Given the description of an element on the screen output the (x, y) to click on. 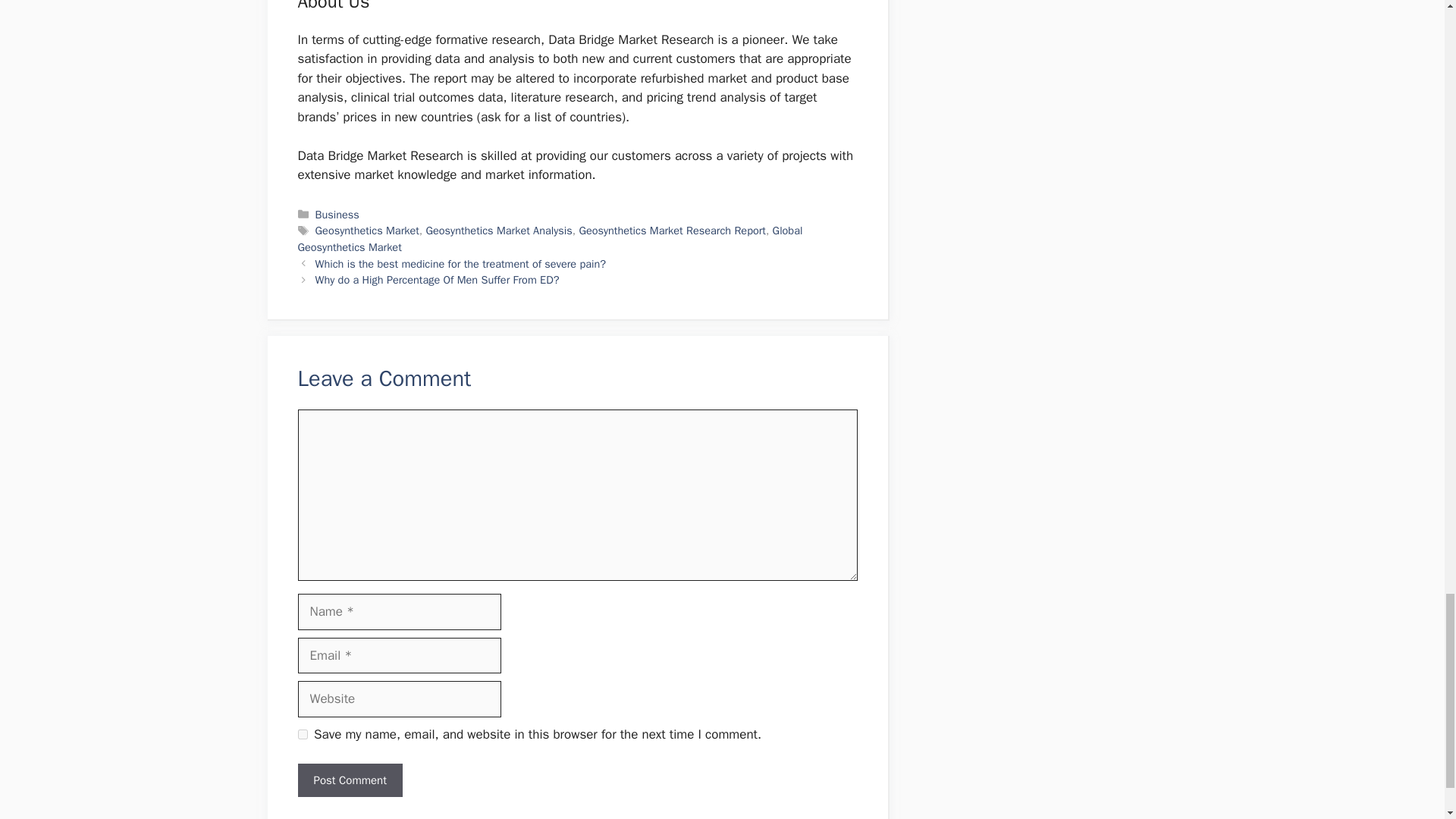
Post Comment (349, 780)
Geosynthetics Market Research Report (671, 230)
Geosynthetics Market (367, 230)
yes (302, 734)
Geosynthetics Market Analysis (499, 230)
Business (337, 214)
Global Geosynthetics Market (549, 238)
Post Comment (349, 780)
Which is the best medicine for the treatment of severe pain? (460, 264)
Why do a High Percentage Of Men Suffer From ED? (437, 279)
